Given the description of an element on the screen output the (x, y) to click on. 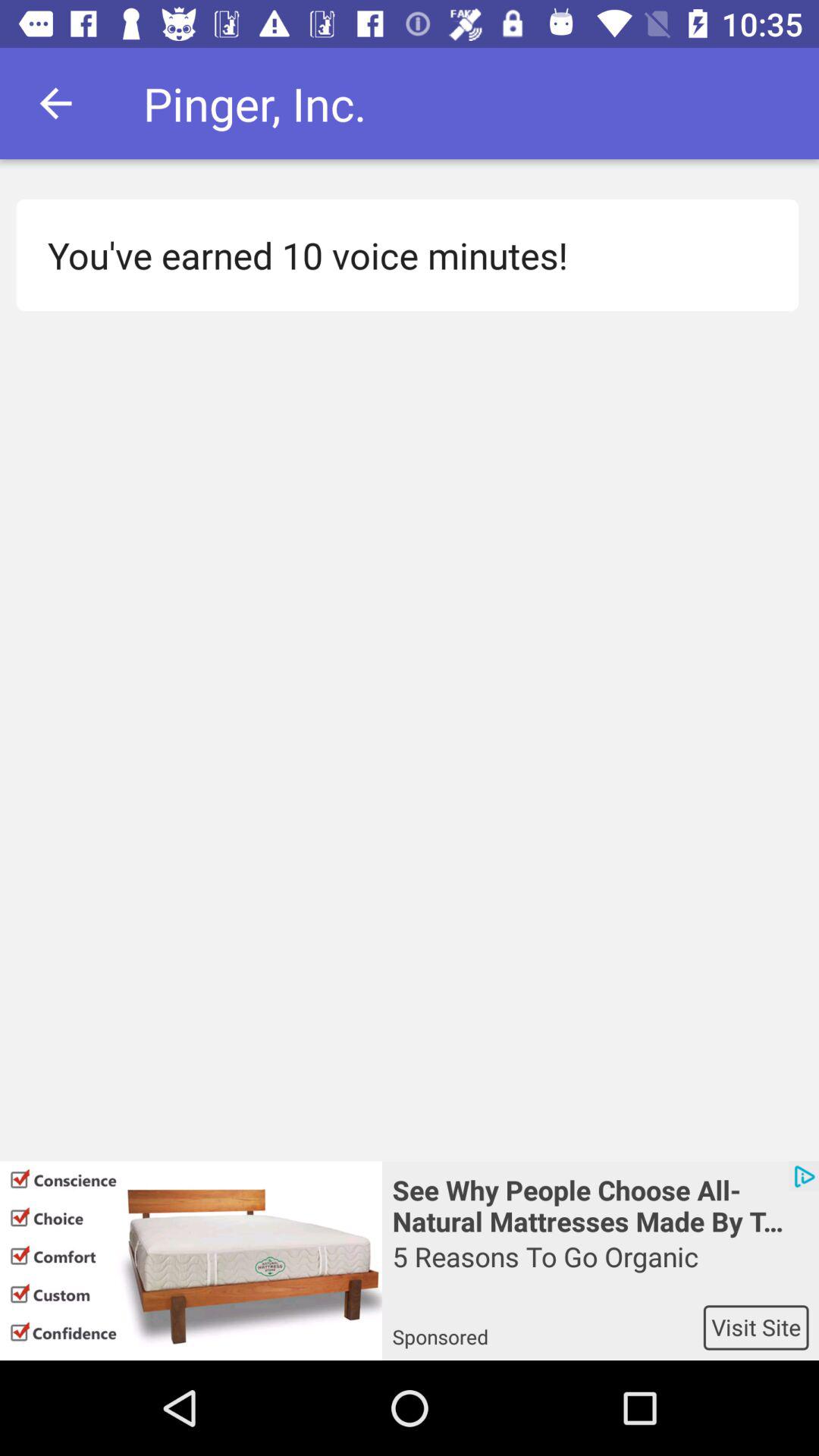
open item below you ve earned item (191, 1260)
